Given the description of an element on the screen output the (x, y) to click on. 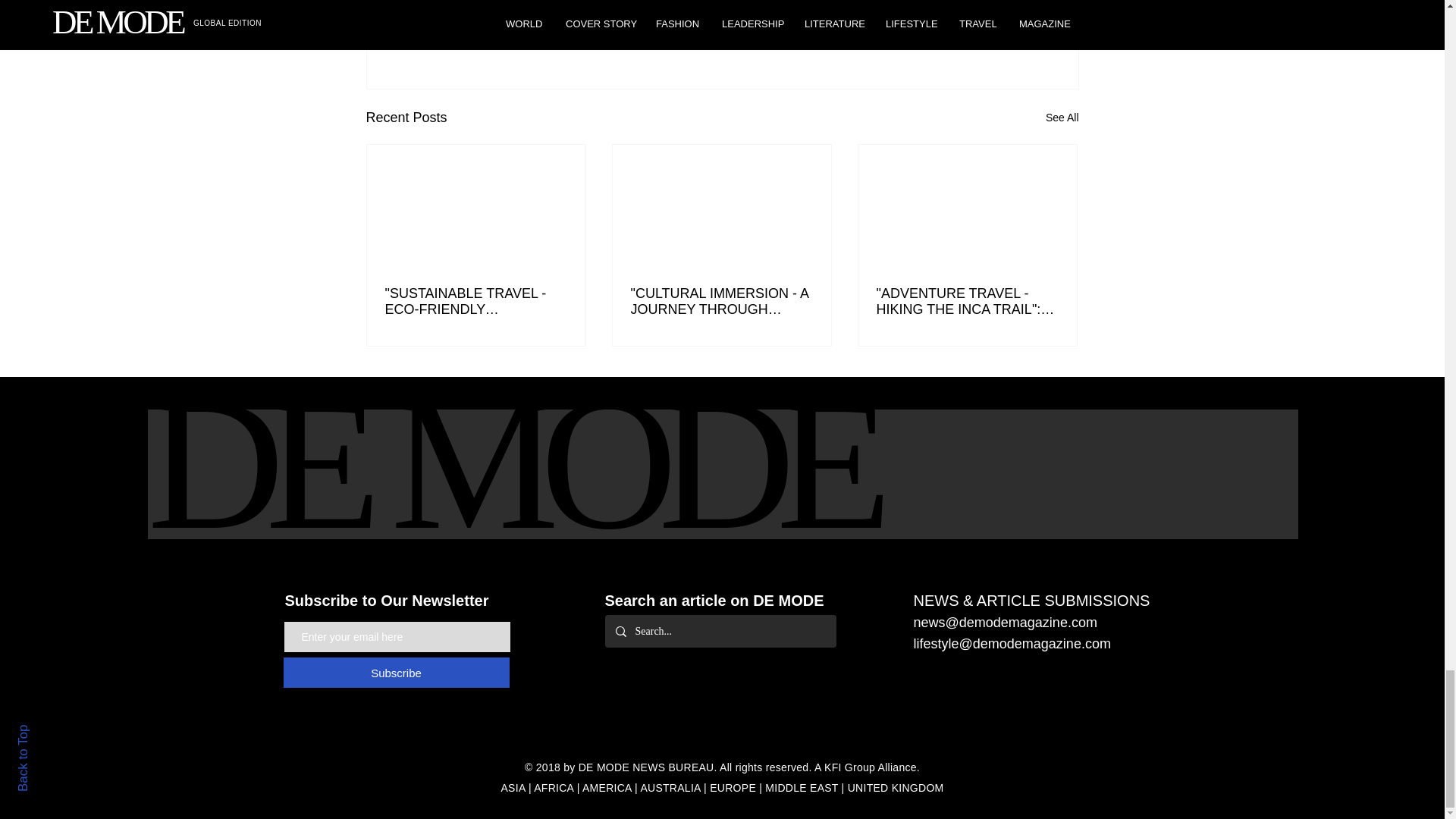
KFI (832, 767)
See All (1061, 117)
Travel (988, 20)
Subscribe (396, 672)
